Given the description of an element on the screen output the (x, y) to click on. 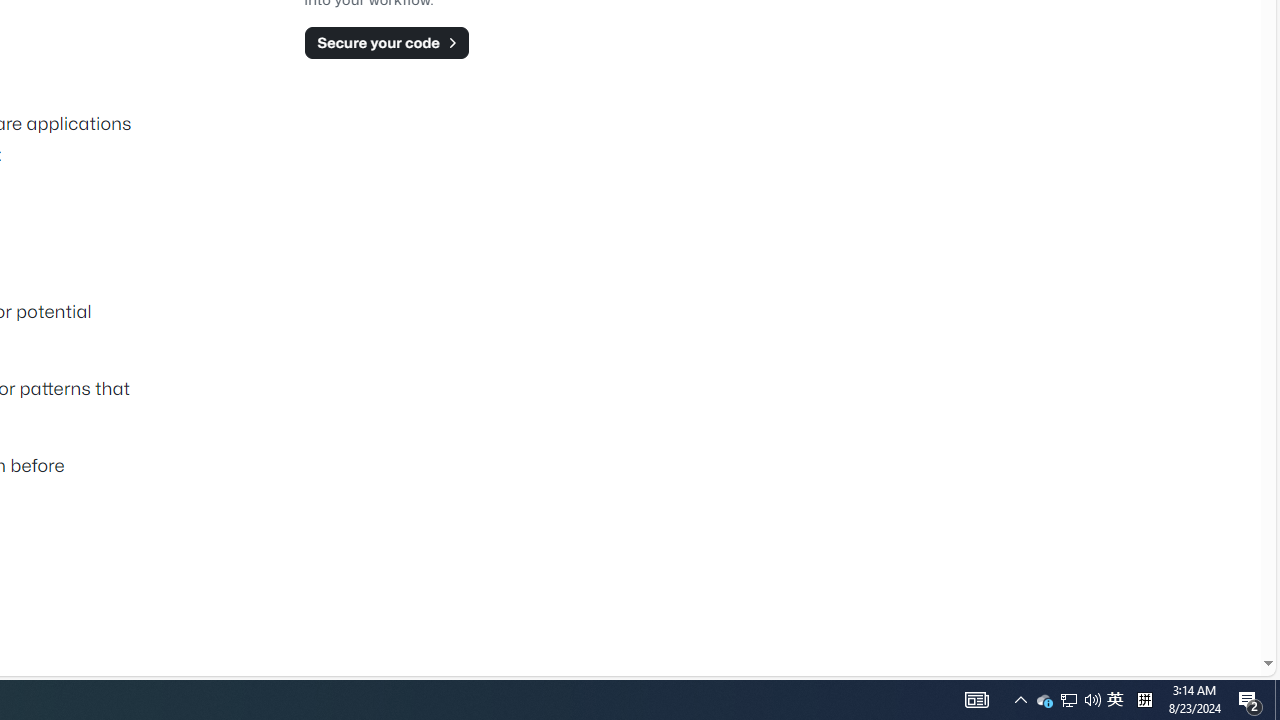
Secure your code (386, 42)
